Given the description of an element on the screen output the (x, y) to click on. 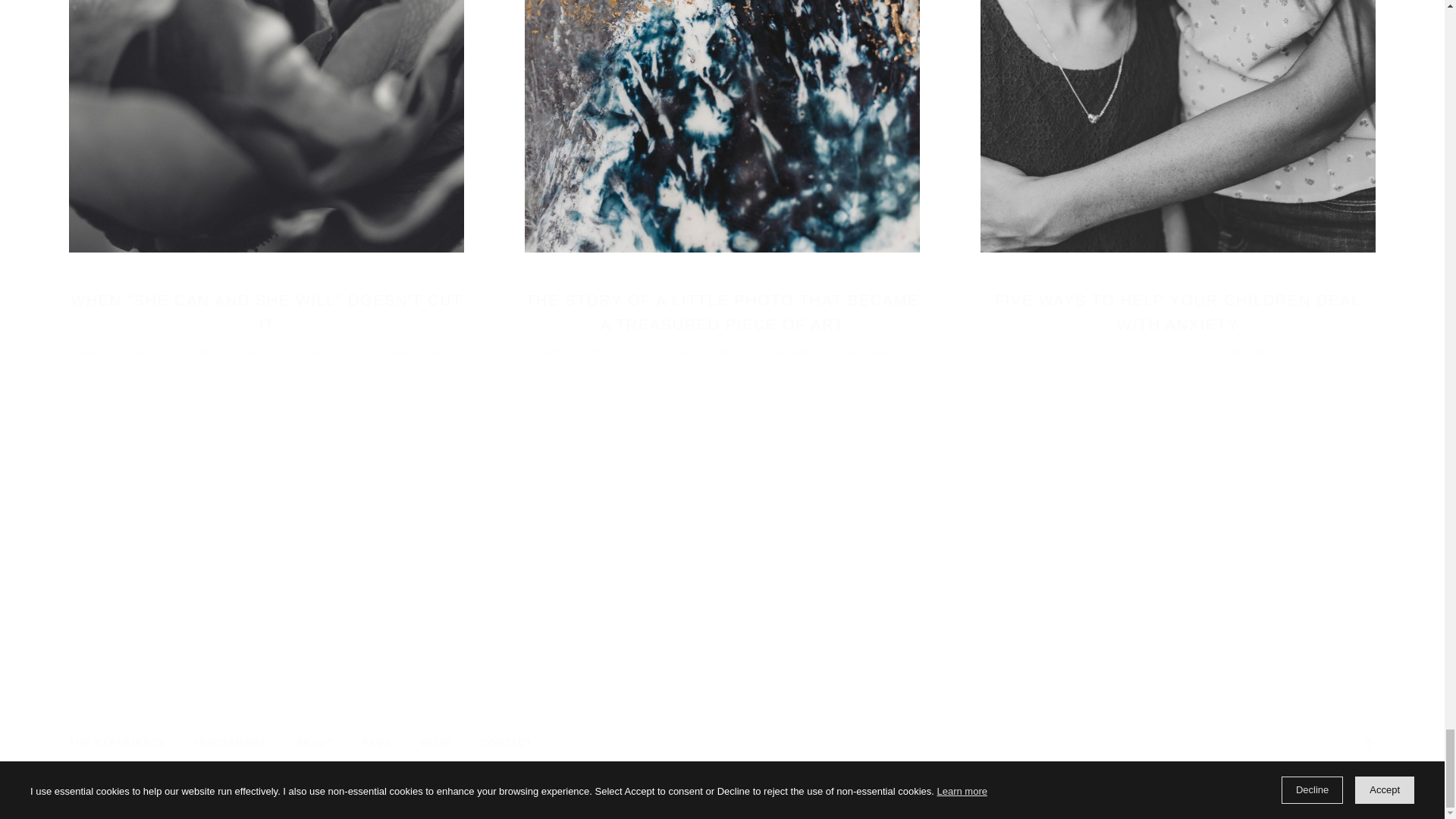
FAMILY (254, 352)
REAL LIFE (327, 352)
